Given the description of an element on the screen output the (x, y) to click on. 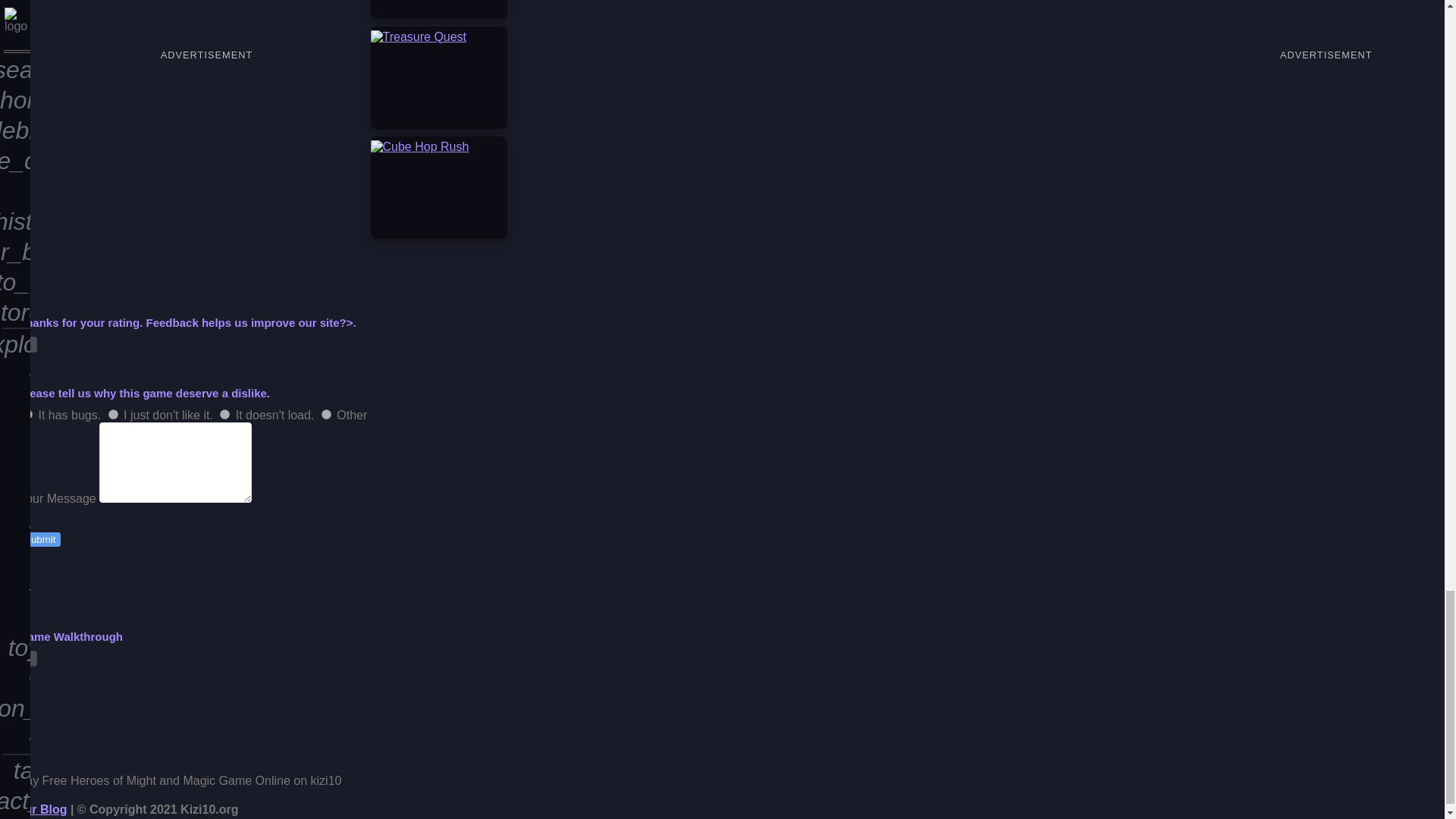
Other (326, 413)
It has bugs. (27, 413)
I just don't like it. (112, 413)
It doesn't load. (224, 413)
Here is our blog for gaming (40, 809)
